Given the description of an element on the screen output the (x, y) to click on. 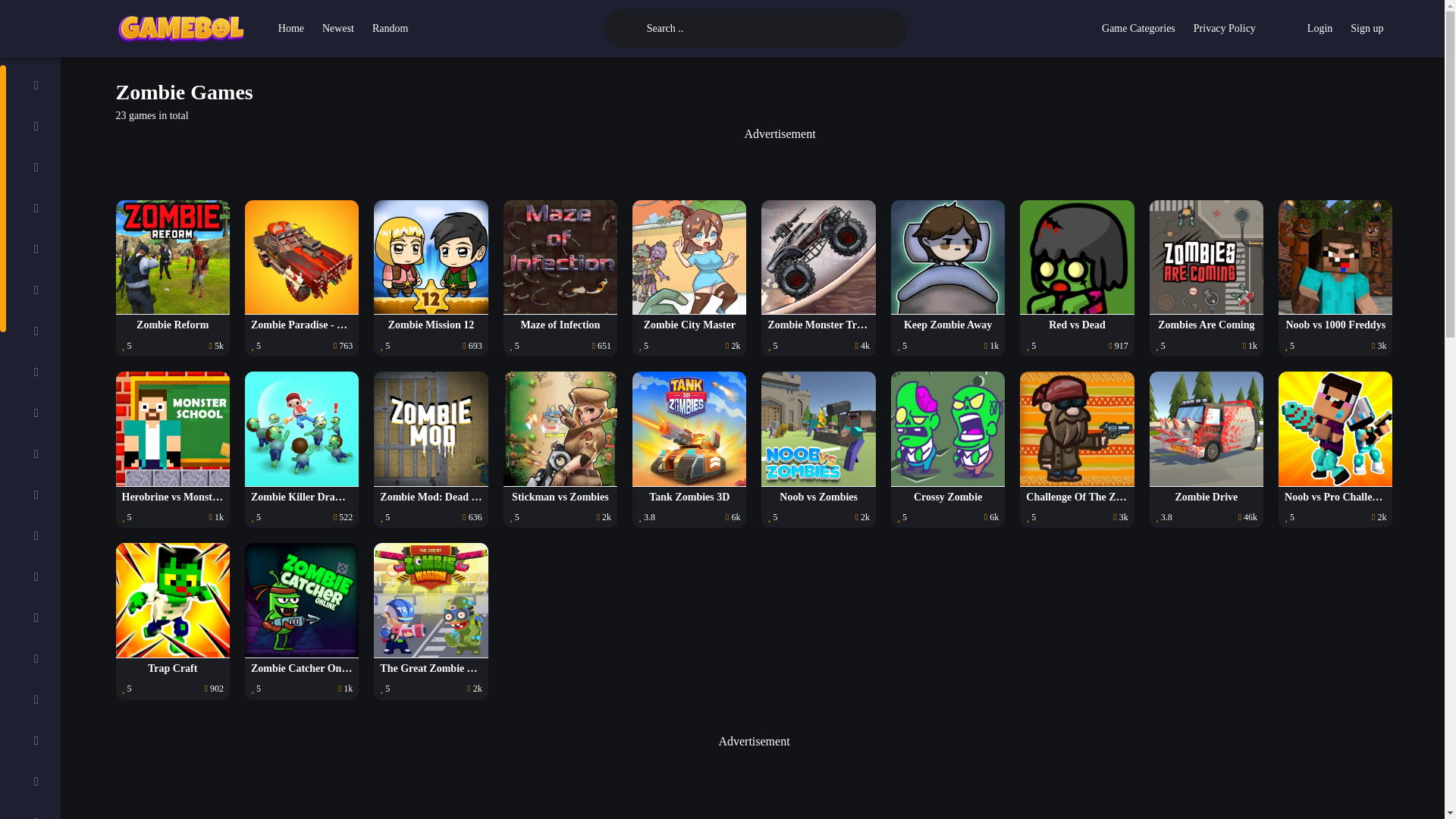
Game Categories (1139, 28)
Home (291, 28)
Newest (337, 28)
Privacy Policy (1225, 28)
Login (1319, 28)
Random (389, 28)
Sign up (1365, 28)
